Given the description of an element on the screen output the (x, y) to click on. 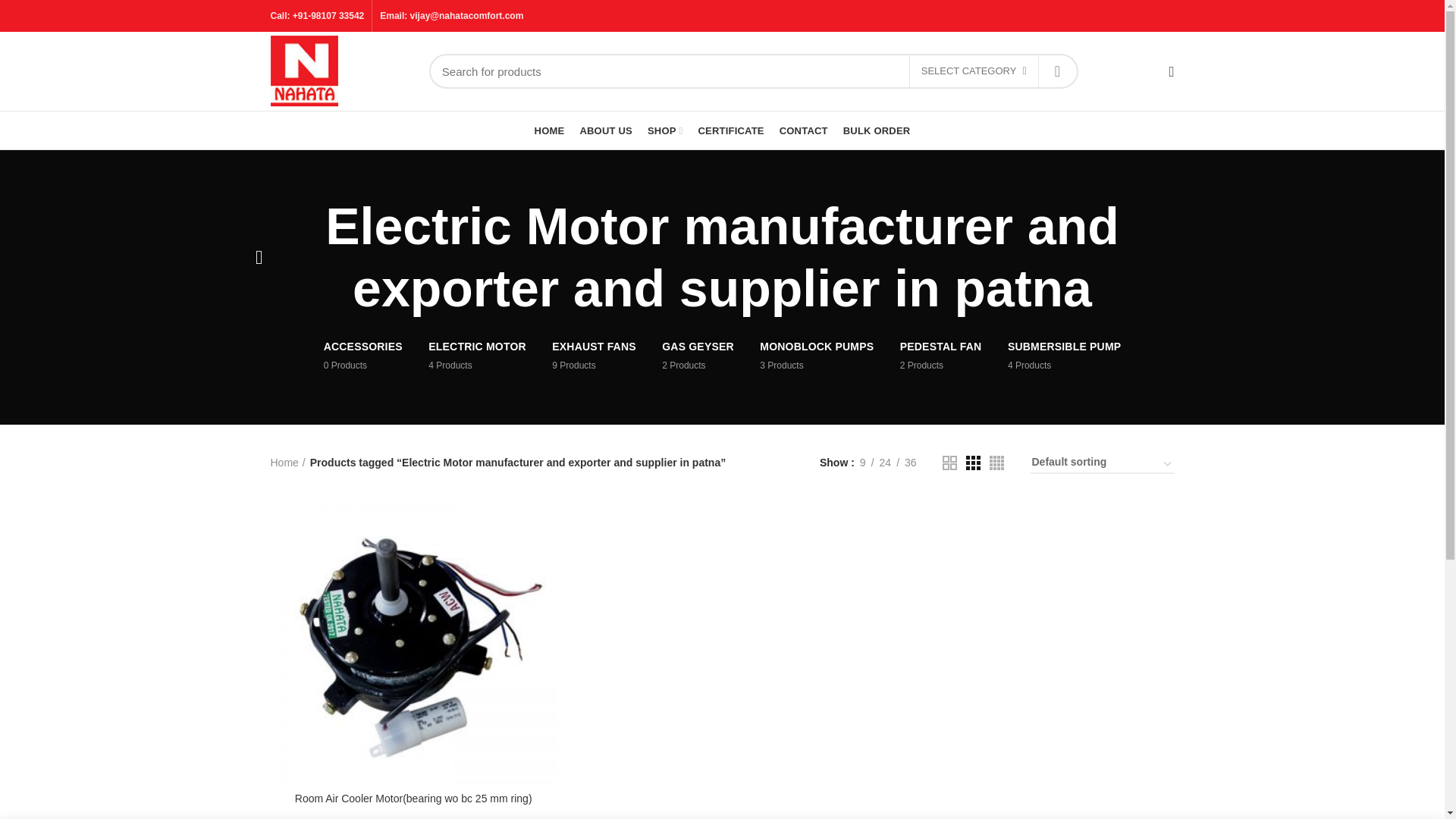
CERTIFICATE (476, 354)
HOME (730, 130)
SEARCH (549, 130)
ABOUT US (697, 354)
BULK ORDER (1058, 71)
SELECT CATEGORY (593, 354)
SELECT CATEGORY (606, 130)
SHOP (876, 130)
CONTACT (363, 354)
